Given the description of an element on the screen output the (x, y) to click on. 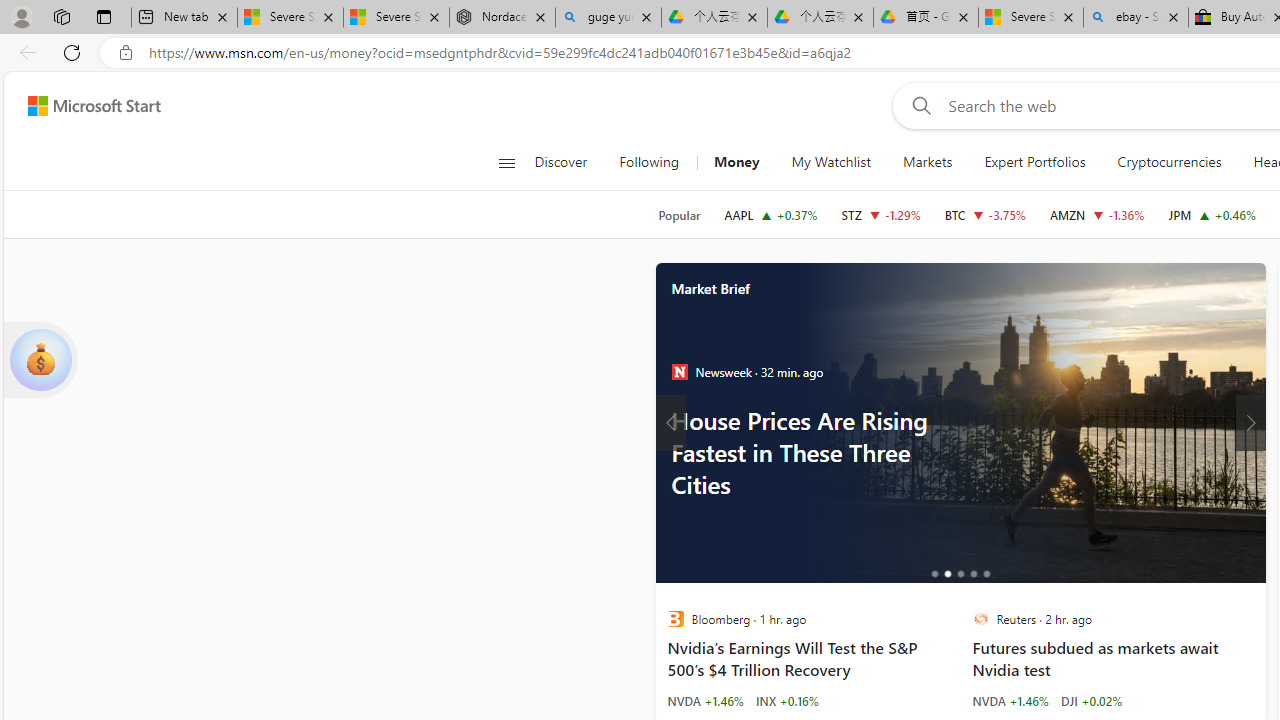
Money (736, 162)
Bloomberg (674, 619)
JPM JPMORGAN CHASE & CO. increase 220.18 +1.01 +0.46% (1211, 214)
Open navigation menu (506, 162)
STZ CONSTELLATION BRANDS, INC. decrease 239.98 -3.13 -1.29% (881, 214)
Markets (927, 162)
Newsweek (679, 372)
